Given the description of an element on the screen output the (x, y) to click on. 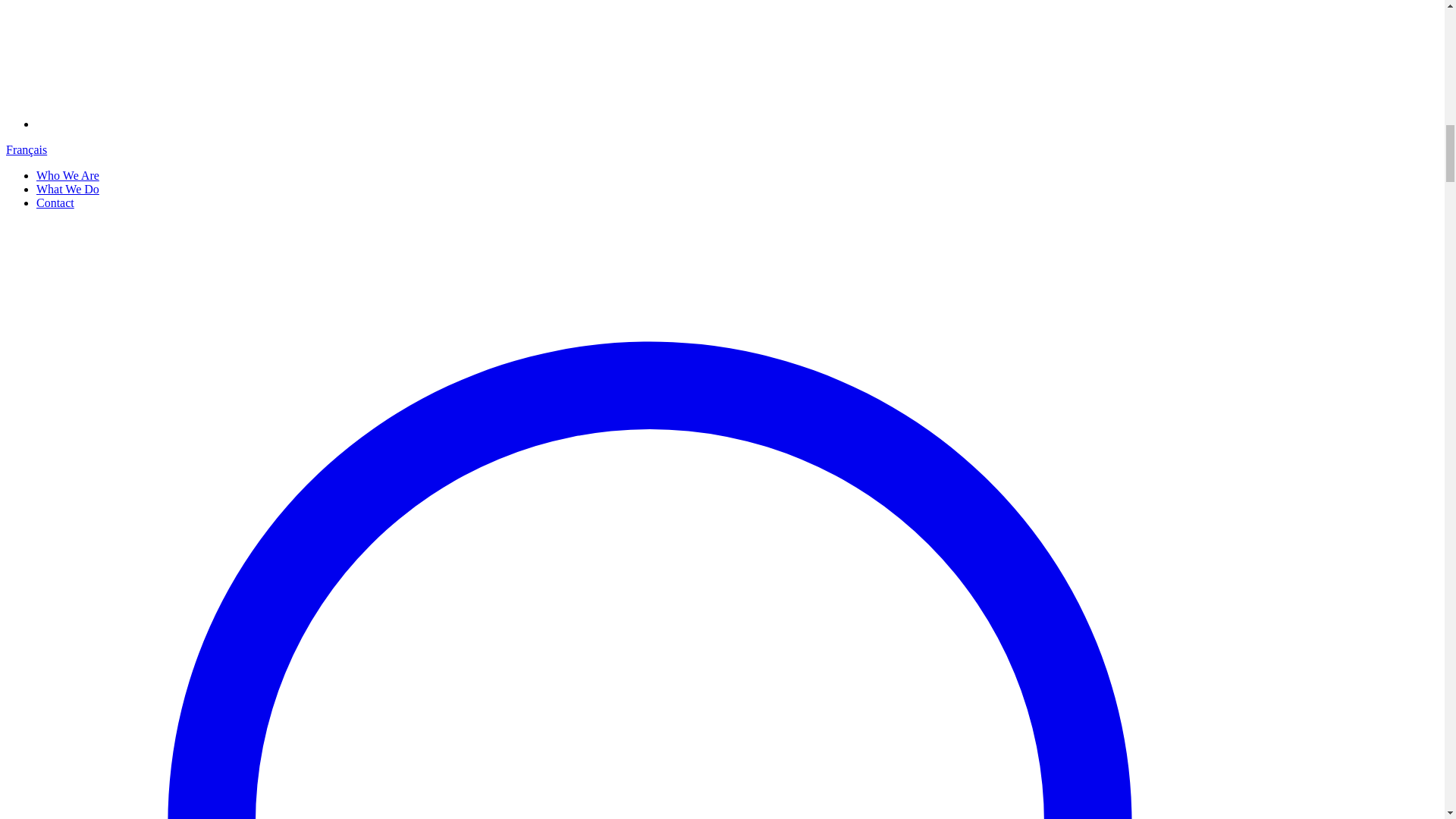
Contact (55, 202)
Who We Are (67, 174)
What We Do (67, 188)
